Given the description of an element on the screen output the (x, y) to click on. 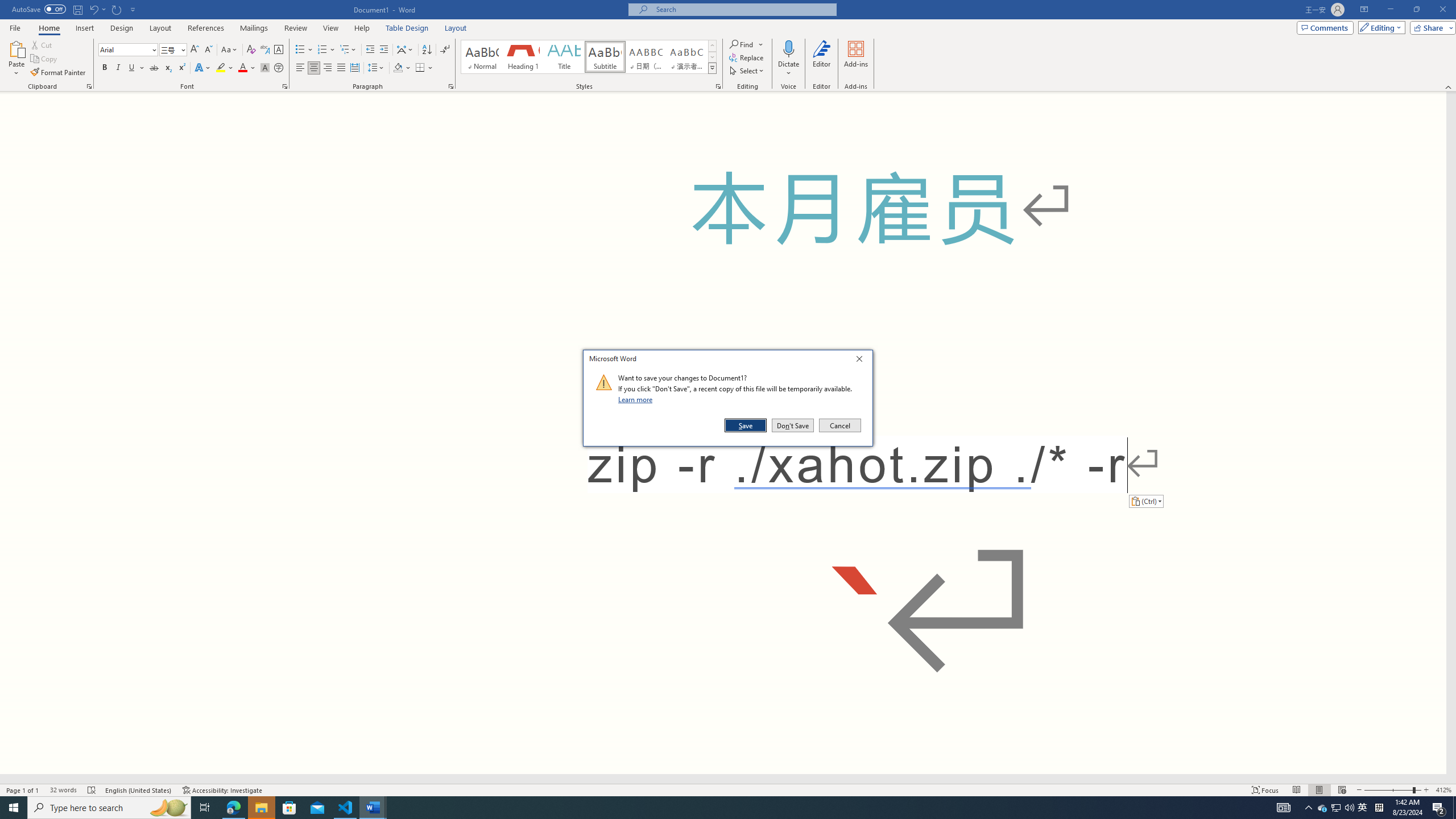
Don't Save (792, 425)
Font Color Red (241, 67)
Spelling and Grammar Check Errors (91, 790)
Align Right (327, 67)
Start (13, 807)
Minimize (1390, 9)
Print Layout (1318, 790)
Cancel (839, 425)
Borders (419, 67)
Font Size (169, 49)
Asian Layout (405, 49)
Font... (285, 85)
Web Layout (1342, 790)
Zoom Out (1388, 790)
